Given the description of an element on the screen output the (x, y) to click on. 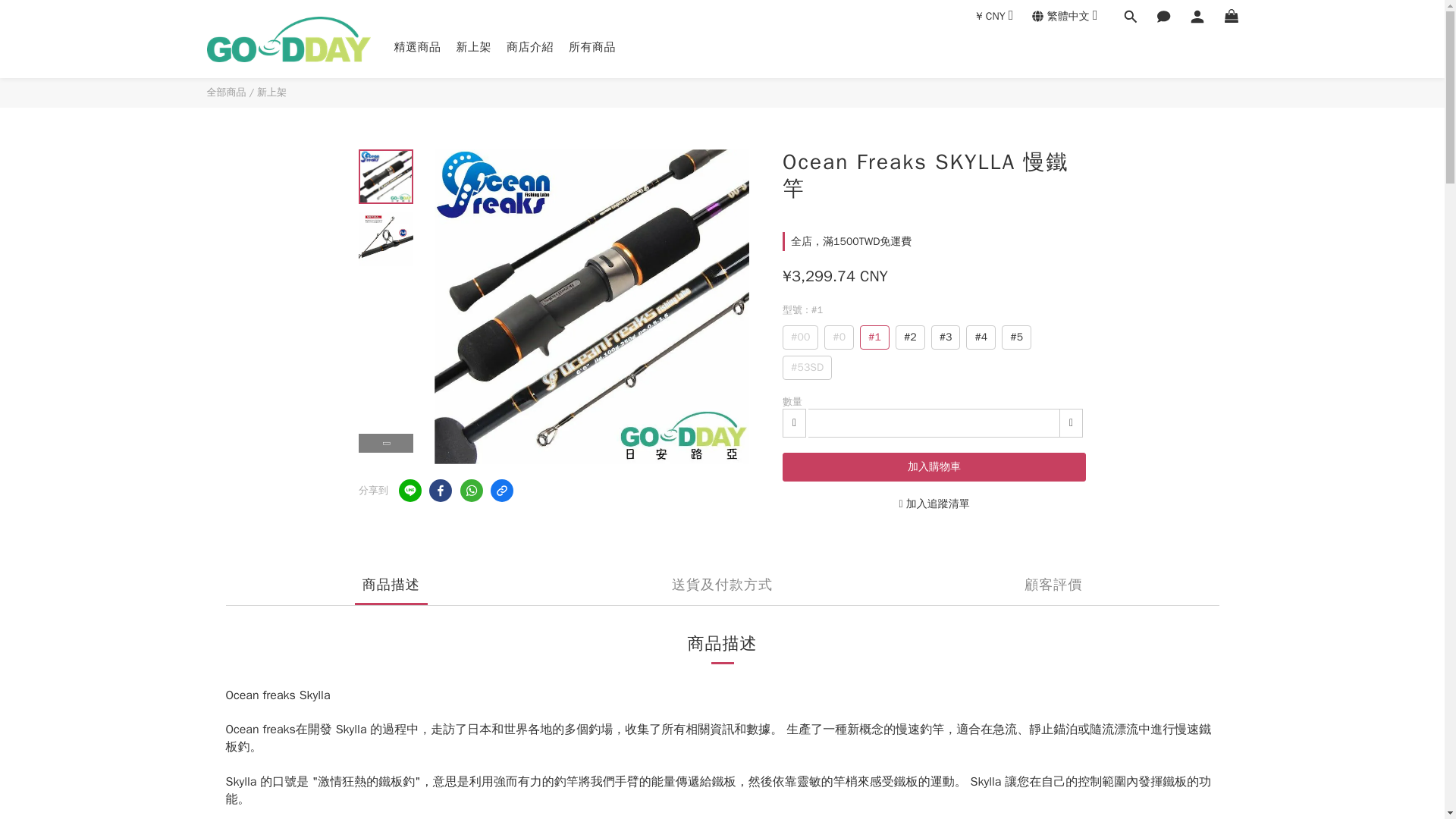
facebook (440, 490)
whatsapp (470, 490)
line (410, 490)
copy link (501, 490)
